Given the description of an element on the screen output the (x, y) to click on. 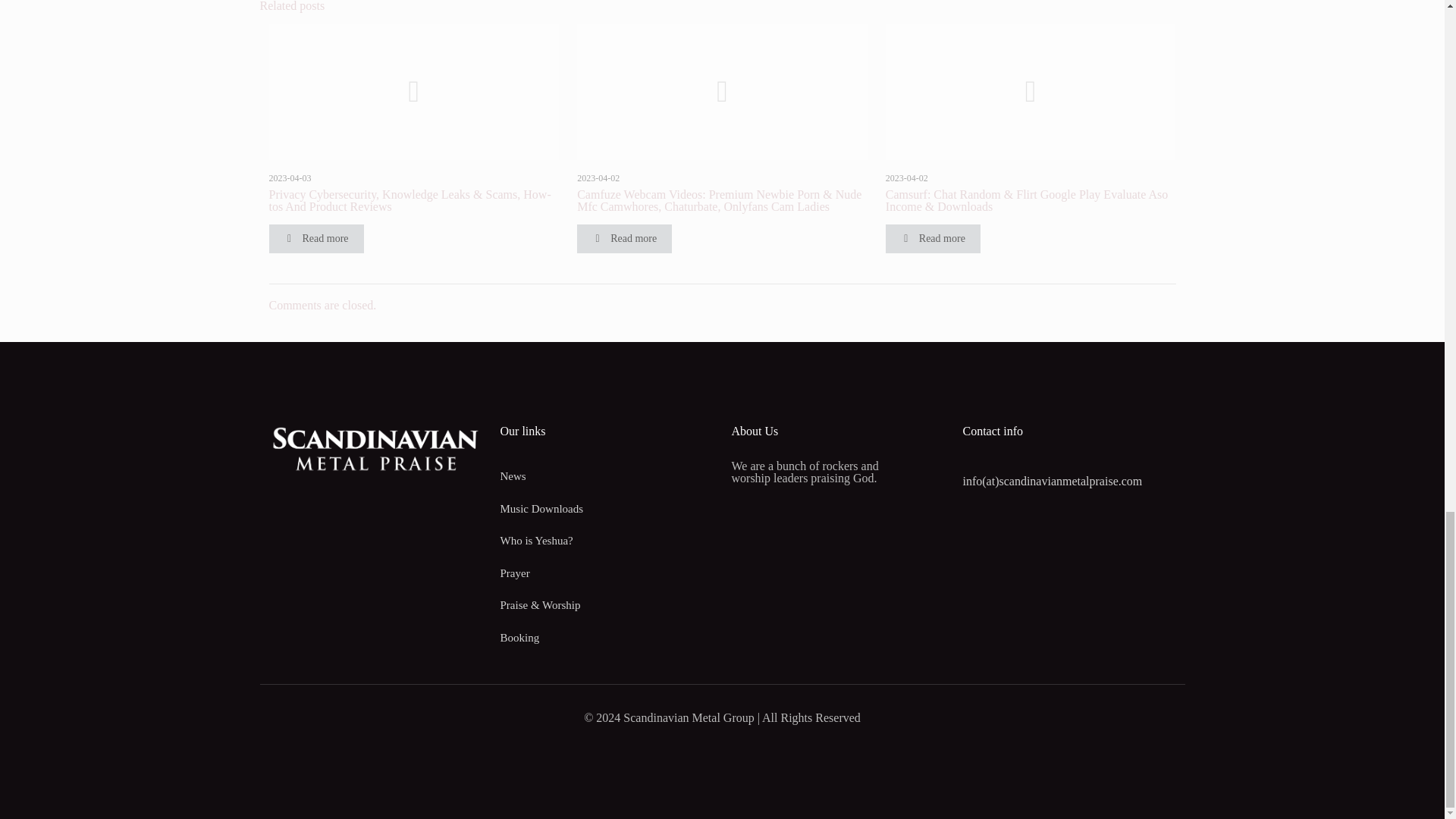
Read more (932, 238)
Booking (606, 636)
News (606, 476)
Read more (623, 238)
Read more (314, 238)
Who is Yeshua? (606, 540)
Prayer (606, 573)
Music Downloads (606, 508)
